Given the description of an element on the screen output the (x, y) to click on. 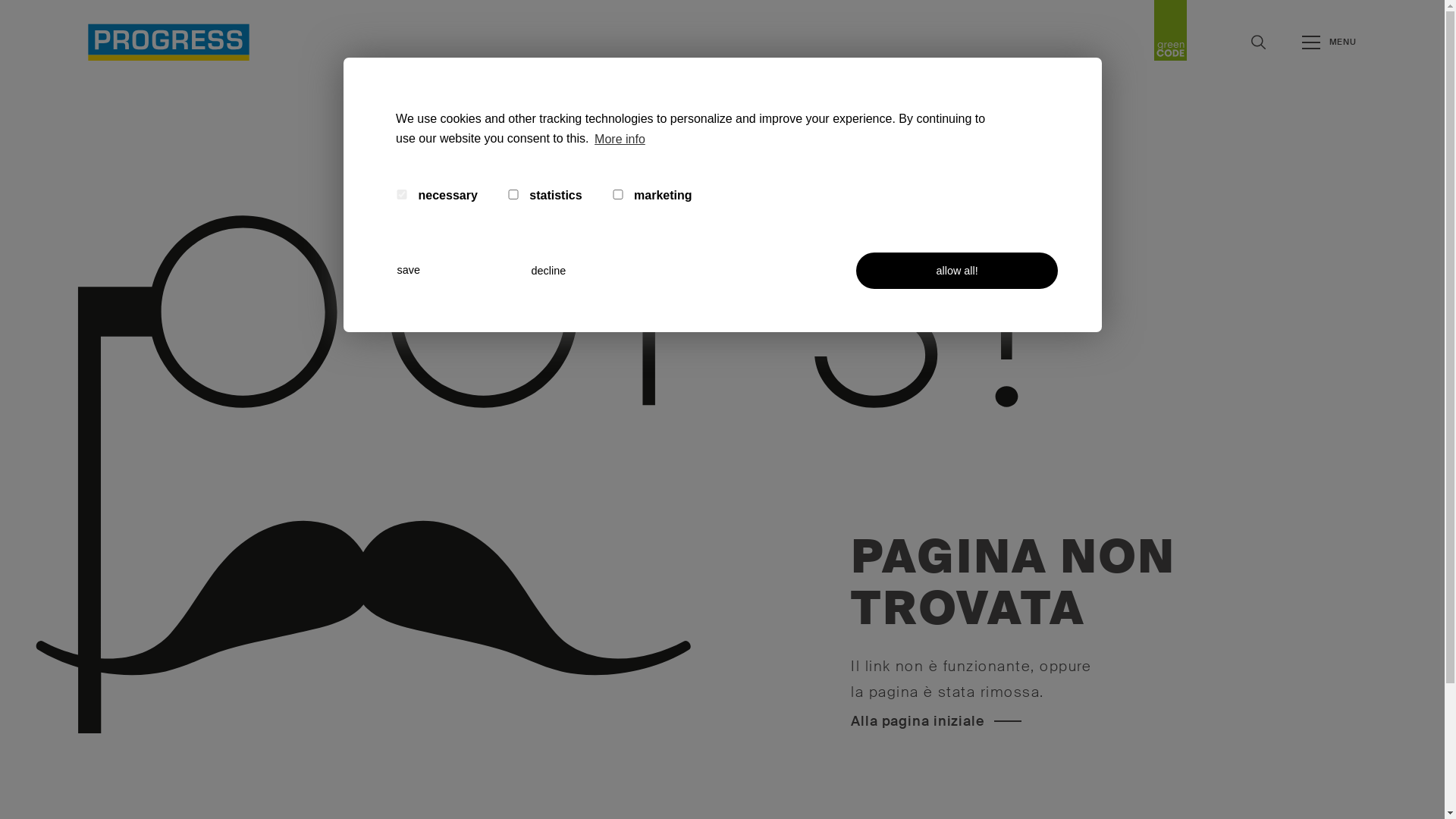
More info Element type: text (619, 139)
save Element type: text (453, 270)
Alla pagina iniziale Element type: text (935, 720)
allow all! Element type: text (956, 270)
decline Element type: text (587, 270)
